Given the description of an element on the screen output the (x, y) to click on. 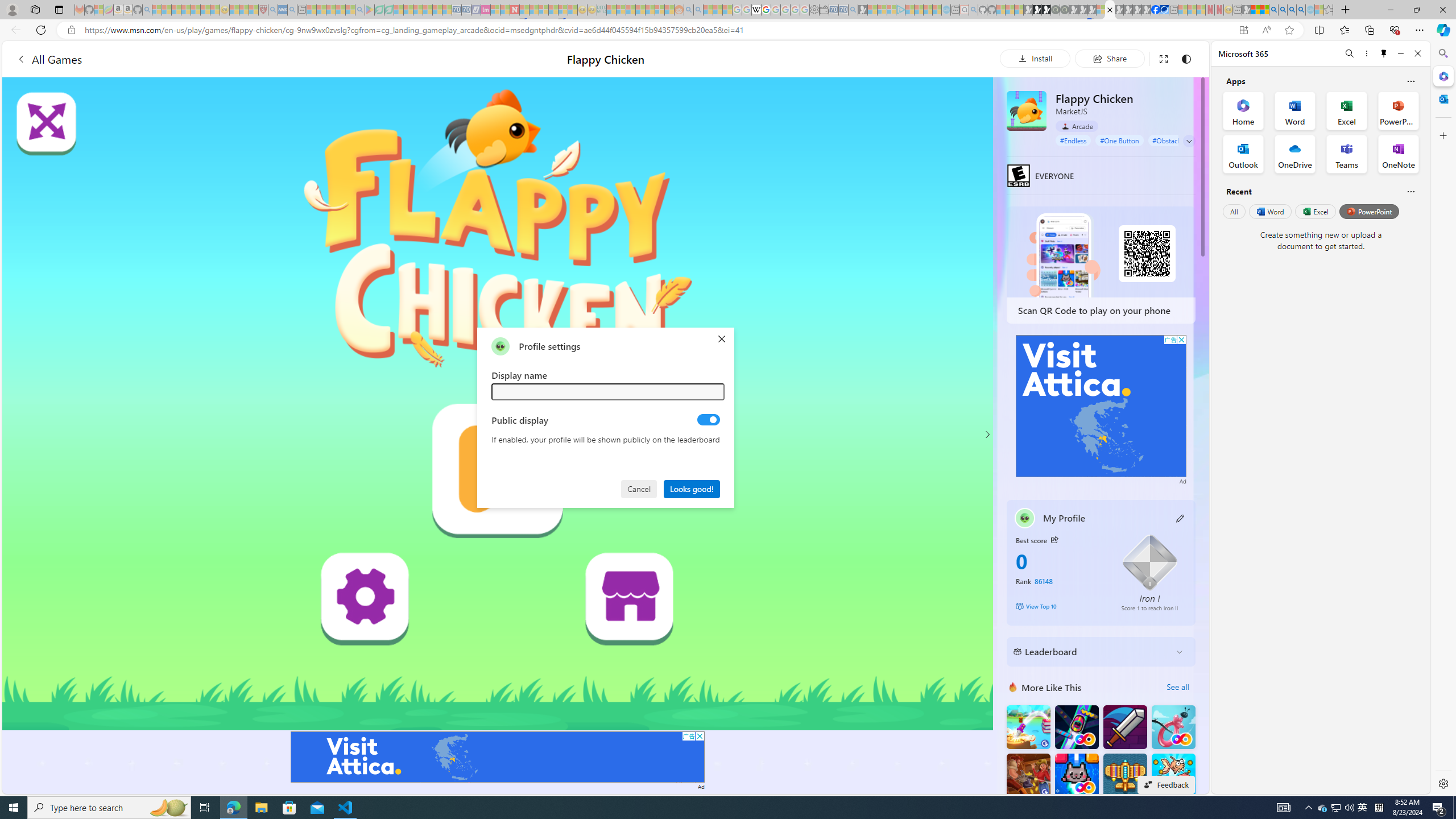
""'s avatar (500, 345)
Saloon Robbery (1028, 775)
Dungeon Master Knight (1124, 726)
Future Focus Report 2024 - Sleeping (1064, 9)
Bumper Car FRVR (1076, 726)
Bing AI - Search (1272, 9)
Kinda Frugal - MSN - Sleeping (649, 9)
Arcade (1076, 126)
